Given the description of an element on the screen output the (x, y) to click on. 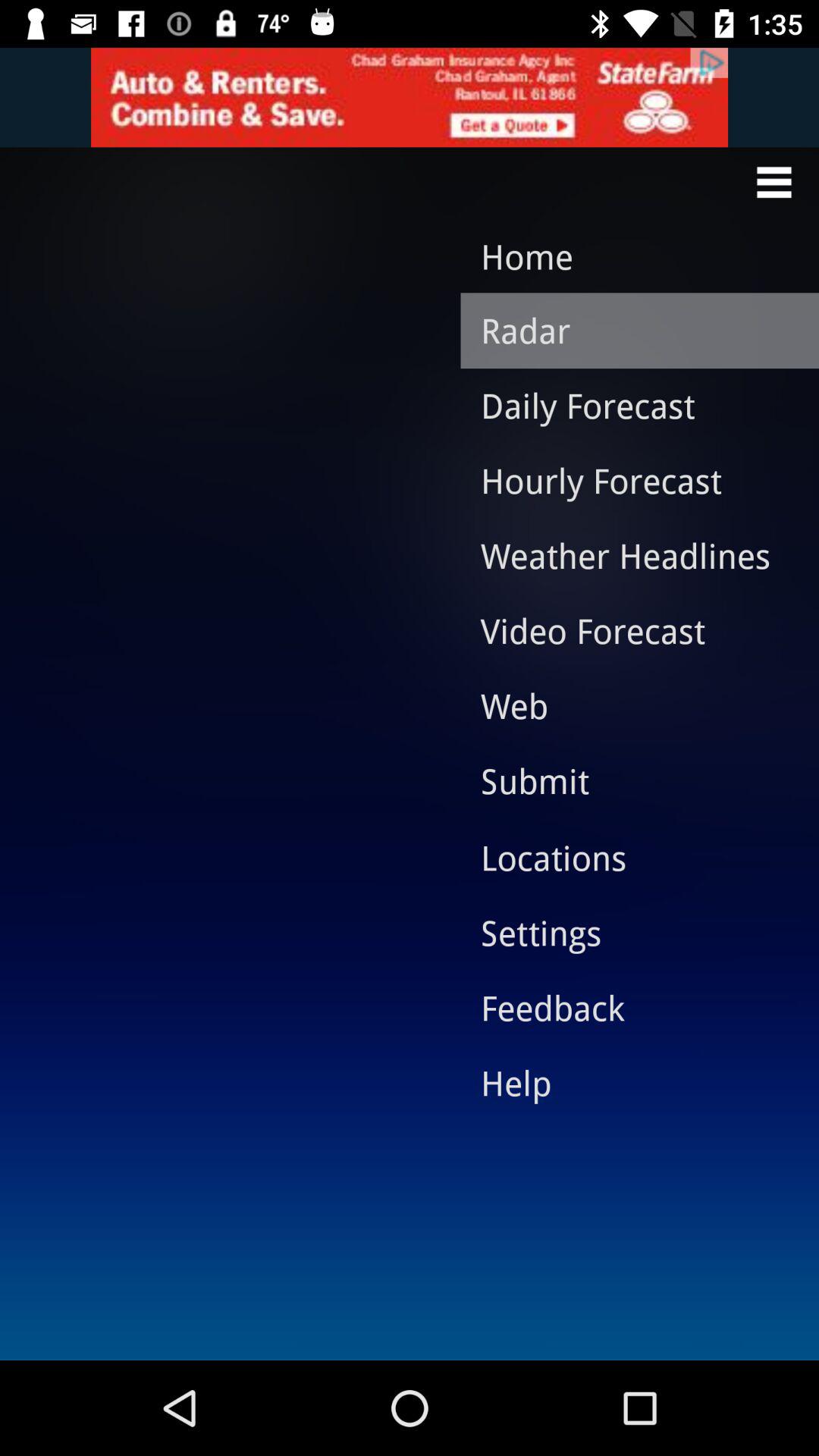
add banner (409, 97)
